Given the description of an element on the screen output the (x, y) to click on. 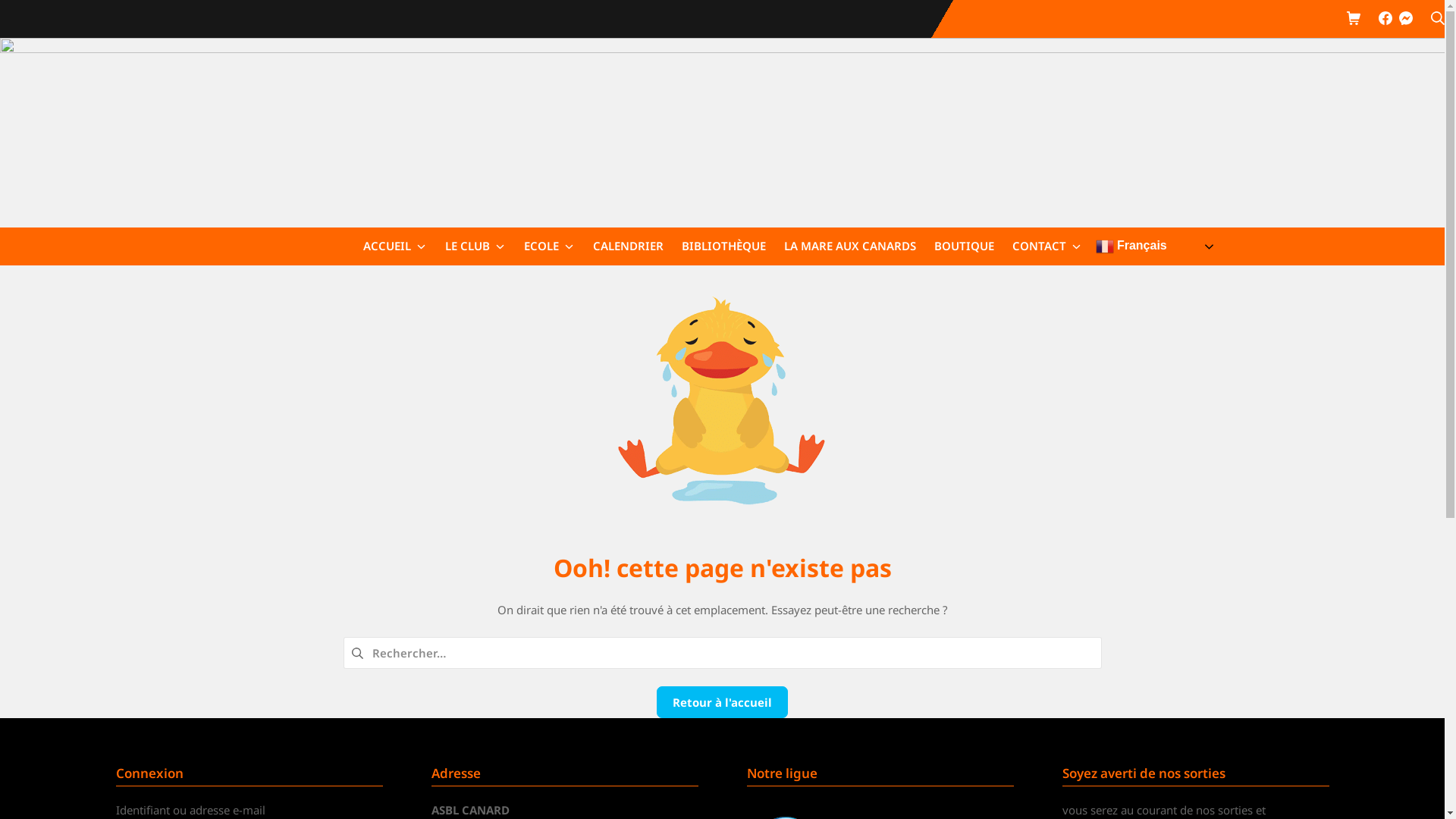
Facebook Element type: text (1385, 19)
Messenger Element type: text (1405, 19)
CONTACT Element type: text (1046, 246)
CALENDRIER Element type: text (627, 246)
Messenger Element type: hover (1405, 18)
LE CLUB Element type: text (474, 246)
BOUTIQUE Element type: text (964, 246)
Facebook Element type: hover (1385, 18)
Rechercher Element type: text (48, 15)
Rechercher Element type: text (1437, 19)
LA MARE AUX CANARDS Element type: text (850, 246)
ECOLE Element type: text (548, 246)
ACCUEIL Element type: text (394, 246)
